Given the description of an element on the screen output the (x, y) to click on. 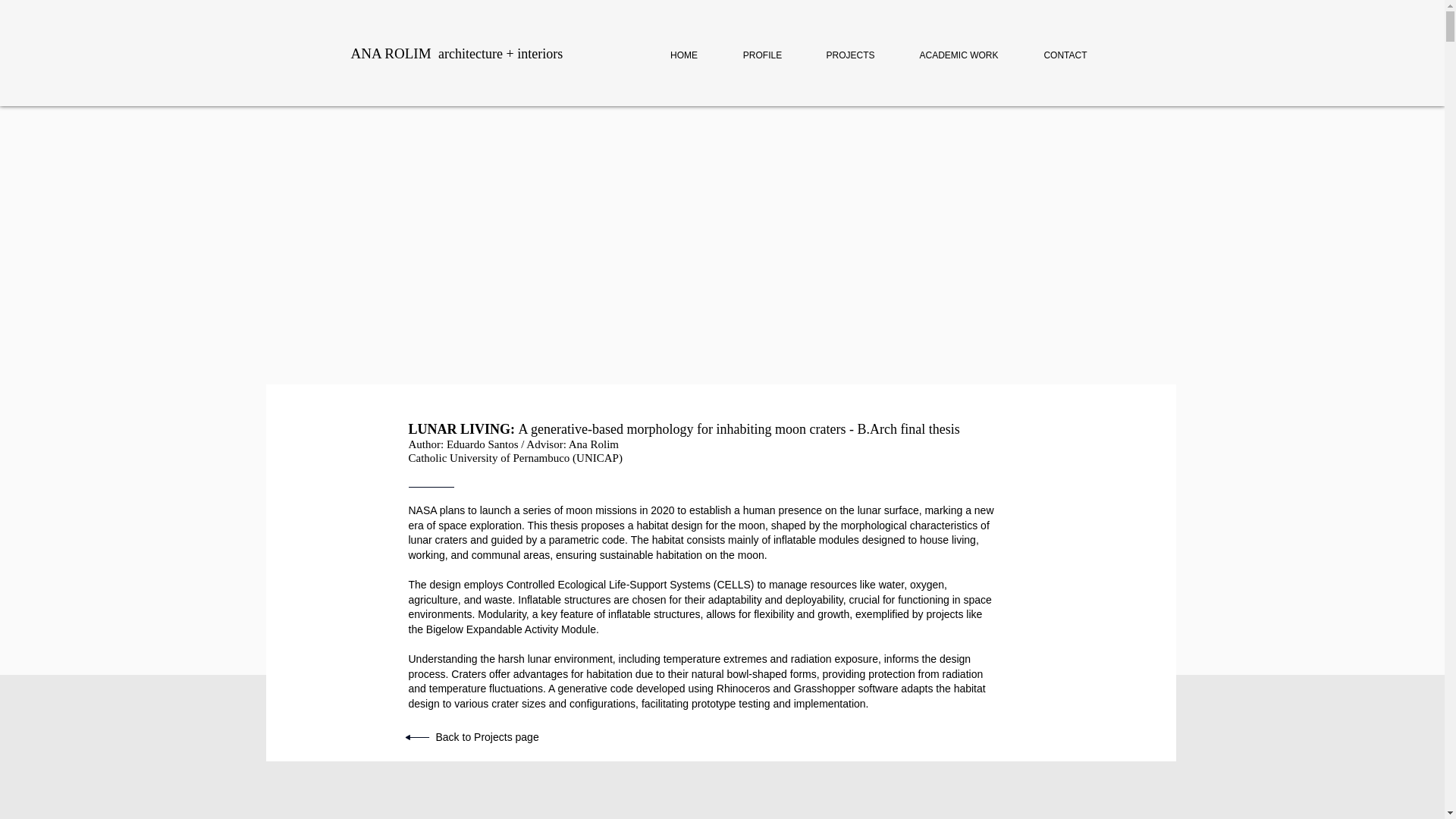
PROFILE (761, 48)
rojects page (509, 736)
ACADEMIC WORK (958, 48)
CONTACT (1064, 48)
HOME (683, 48)
Back to P (457, 736)
PROJECTS (849, 48)
